Given the description of an element on the screen output the (x, y) to click on. 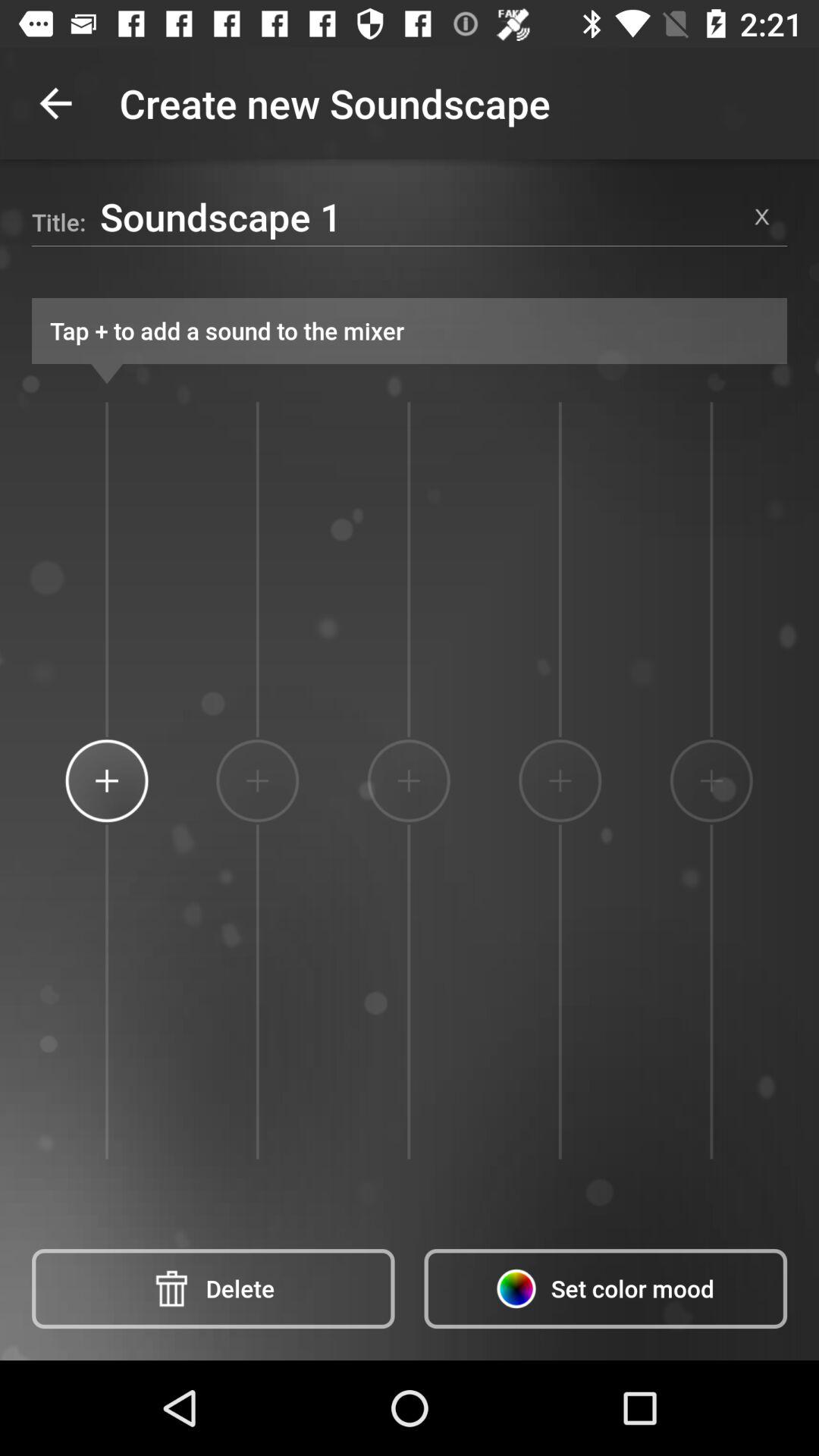
select the icon below the tap to add (560, 780)
